Given the description of an element on the screen output the (x, y) to click on. 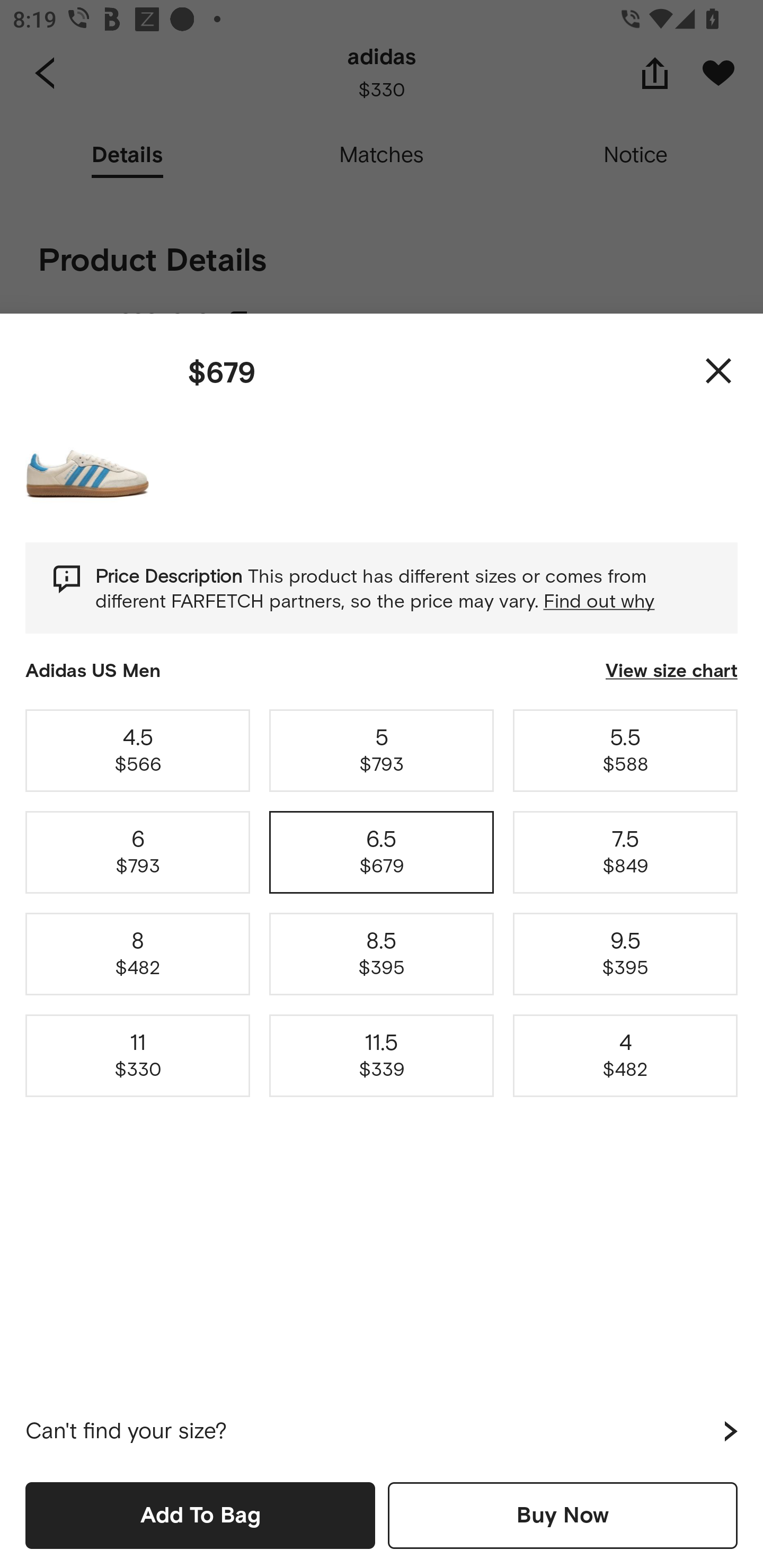
4.5 $566 (137, 749)
5 $793 (381, 749)
5.5 $588 (624, 749)
6 $793 (137, 851)
6.5 $679 (381, 851)
7.5 $849 (624, 851)
8 $482 (137, 953)
8.5 $395 (381, 953)
9.5 $395 (624, 953)
11 $330 (137, 1055)
11.5 $339 (381, 1055)
4 $482 (624, 1055)
Can't find your size? (381, 1431)
Add To Bag (200, 1515)
Buy Now (562, 1515)
